Given the description of an element on the screen output the (x, y) to click on. 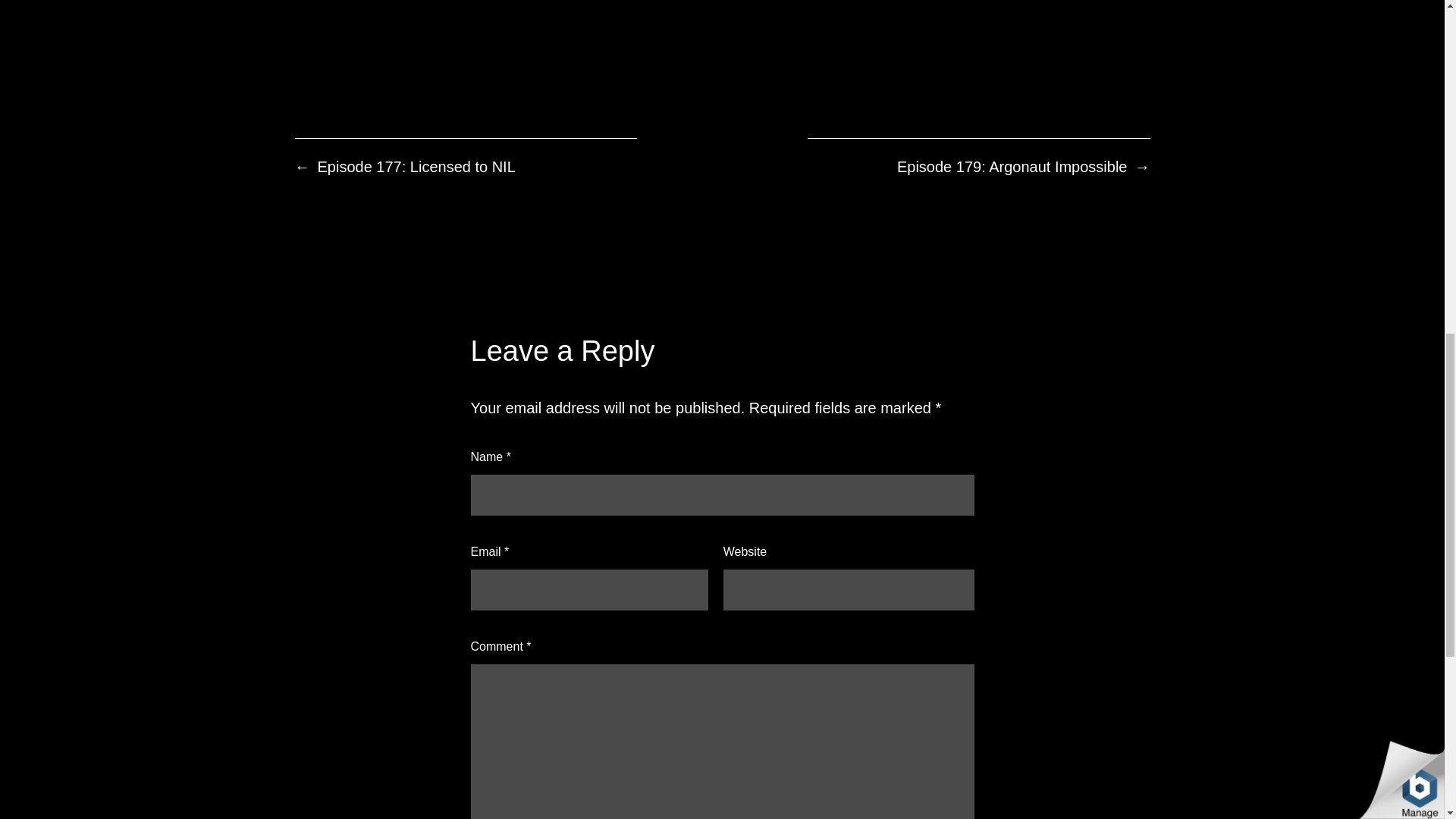
Episode 177: Licensed to NIL (416, 166)
Episode 179: Argonaut Impossible (1011, 166)
